Given the description of an element on the screen output the (x, y) to click on. 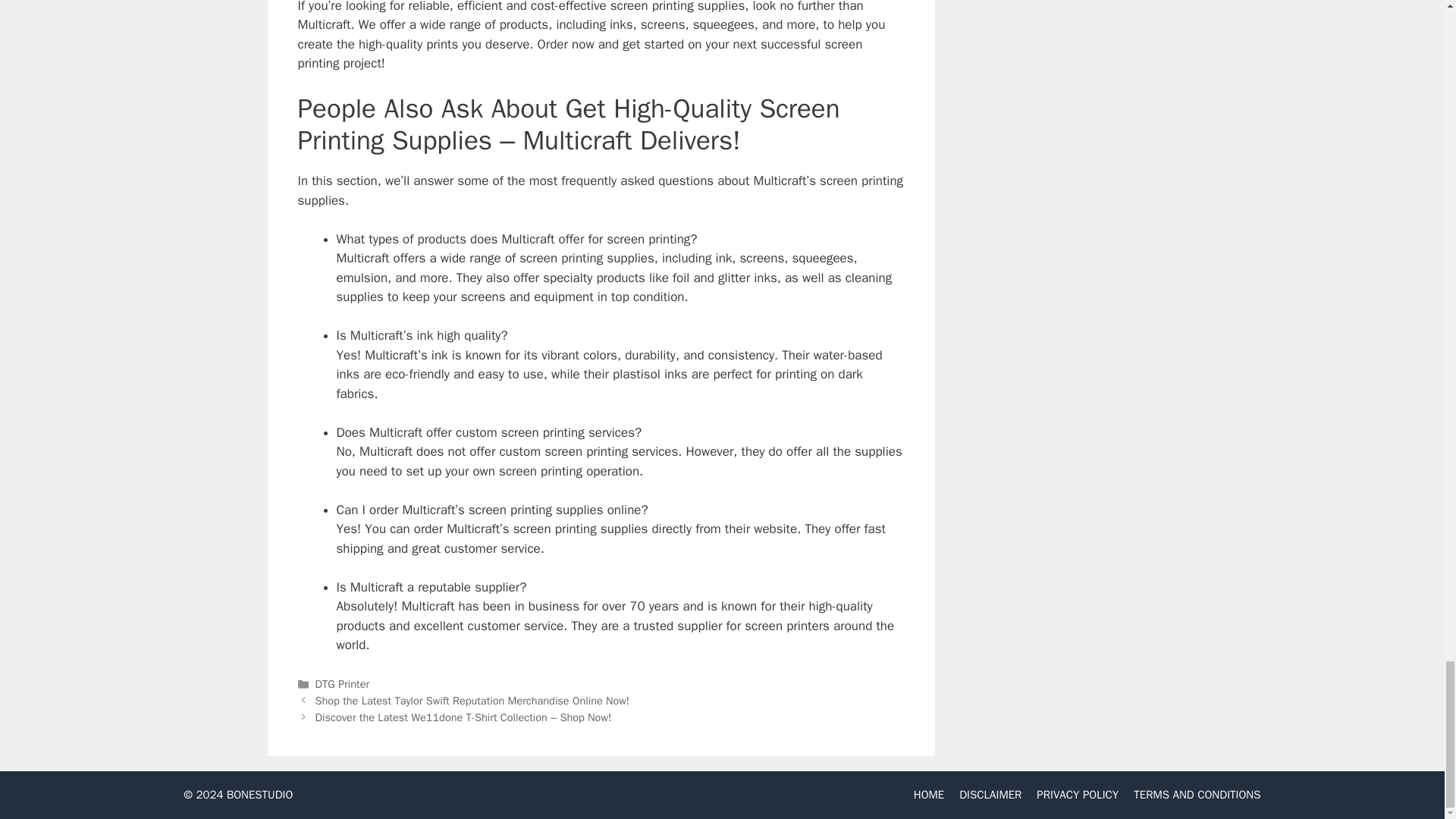
BONESTUDIO (260, 794)
HOME (928, 794)
DISCLAIMER (990, 794)
PRIVACY POLICY (1077, 794)
TERMS AND CONDITIONS (1197, 794)
DTG Printer (342, 684)
